Given the description of an element on the screen output the (x, y) to click on. 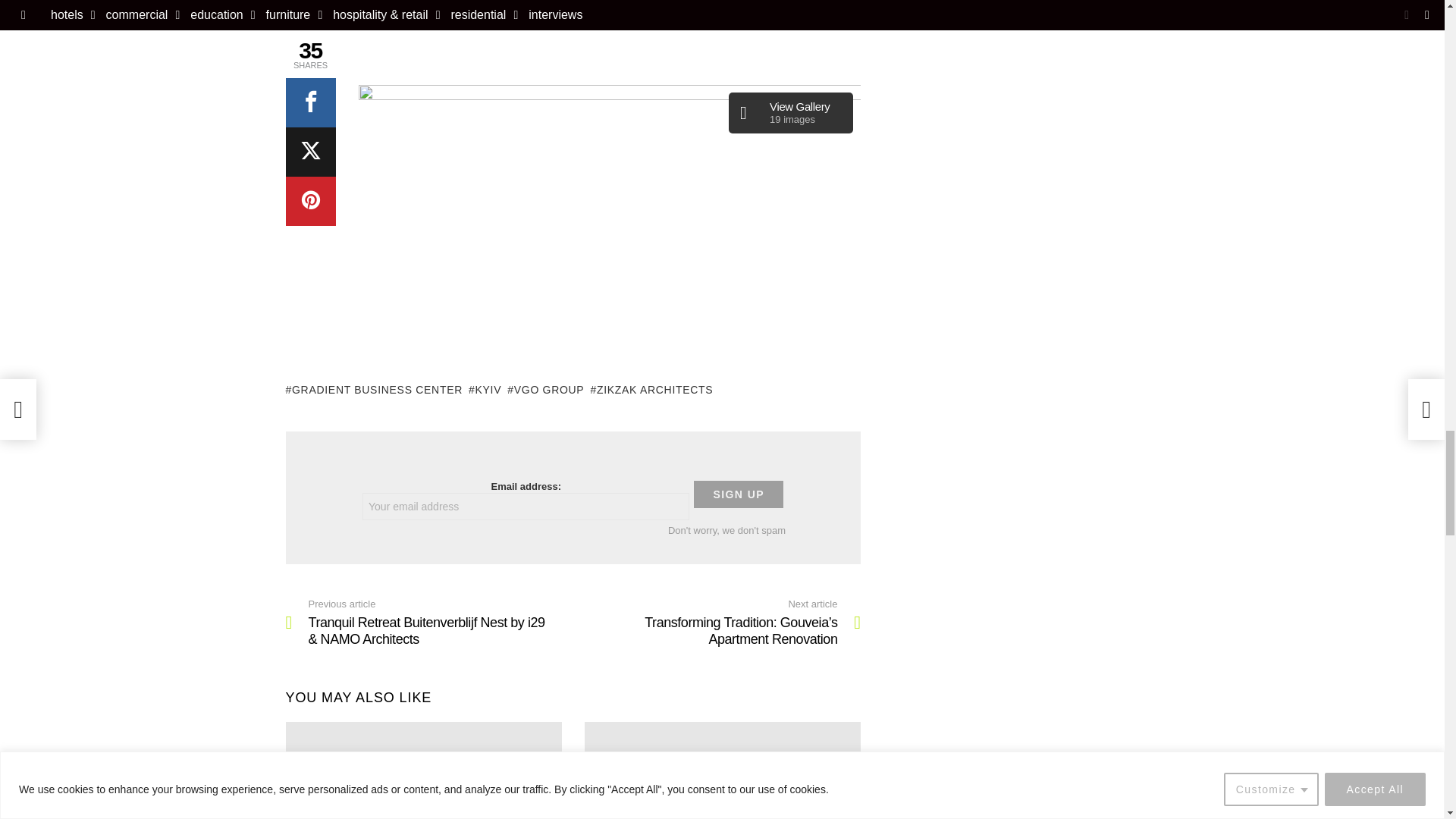
Sign up (738, 493)
